Given the description of an element on the screen output the (x, y) to click on. 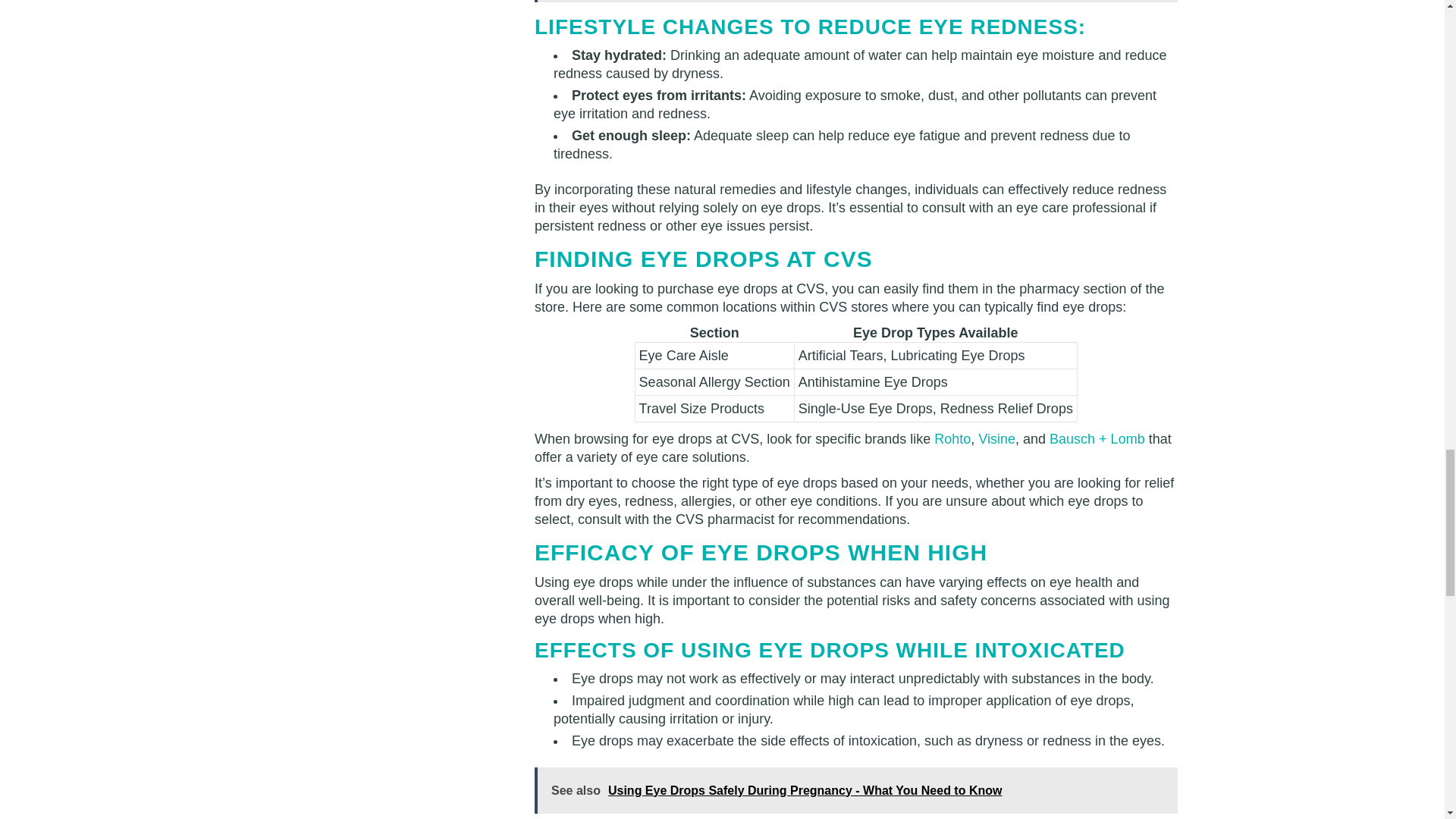
Rohto (952, 438)
Visine (996, 438)
